Given the description of an element on the screen output the (x, y) to click on. 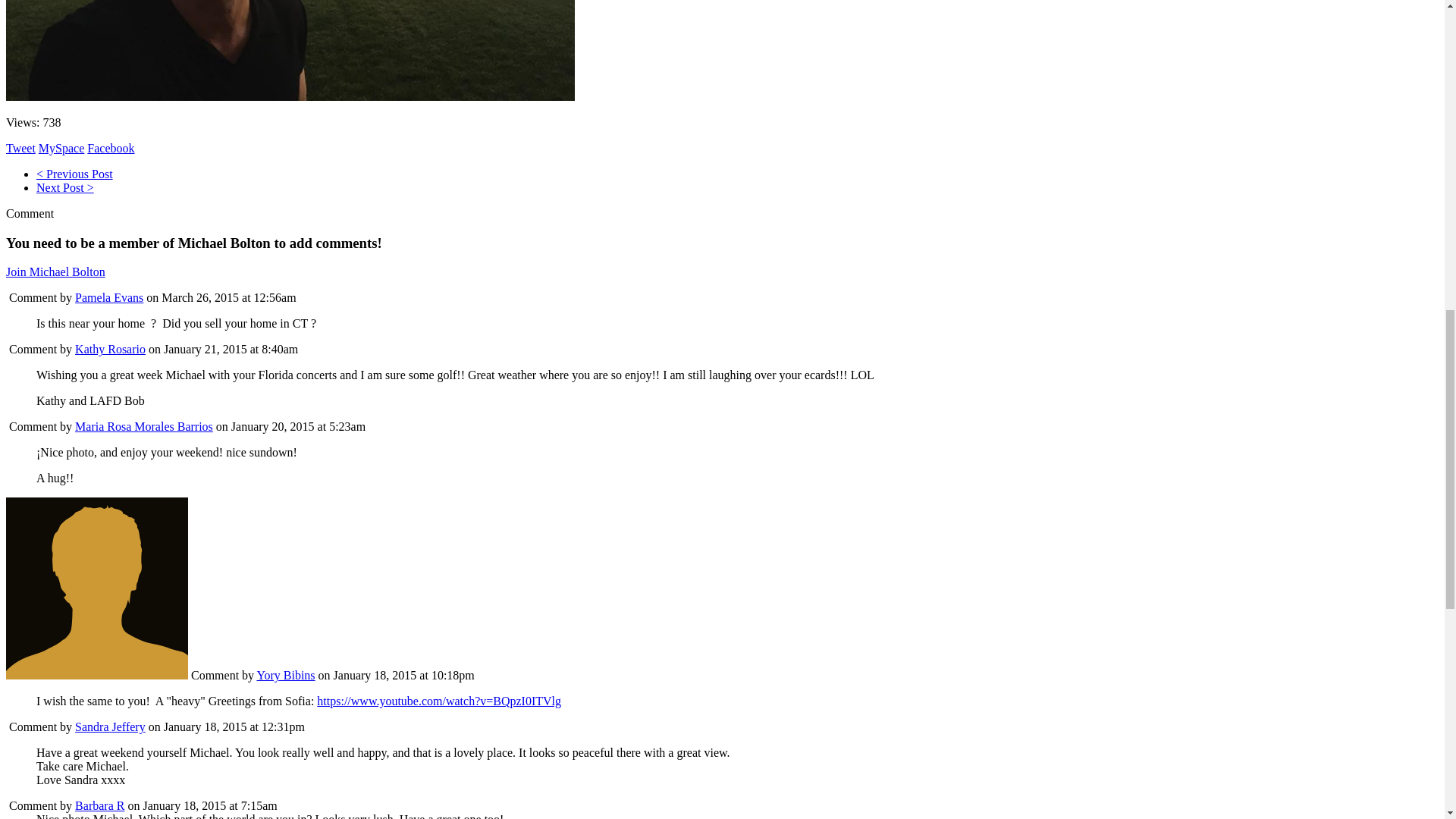
Tweet (19, 147)
Join Michael Bolton (54, 271)
Ecard from Michael (65, 187)
Facebook (110, 147)
Pamela Evans (108, 297)
New Times Interview (74, 173)
Kathy Rosario (110, 349)
MySpace (61, 147)
Yory Bibins (96, 675)
